Given the description of an element on the screen output the (x, y) to click on. 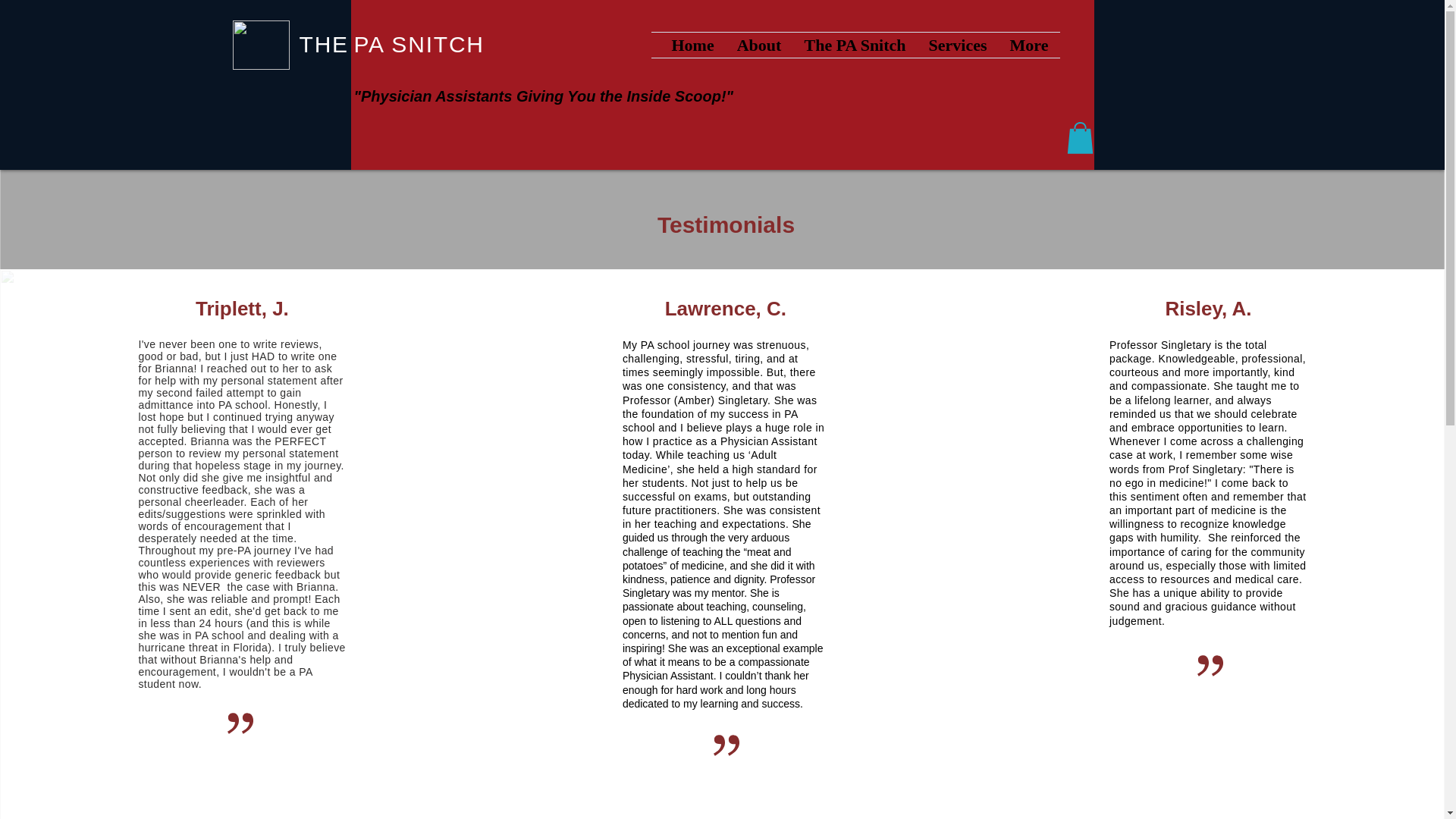
About (758, 44)
PA SNITCH (418, 43)
Home (692, 44)
HIGH-RES.jpg (259, 44)
The PA Snitch (855, 44)
Services (957, 44)
THE       (322, 56)
